Given the description of an element on the screen output the (x, y) to click on. 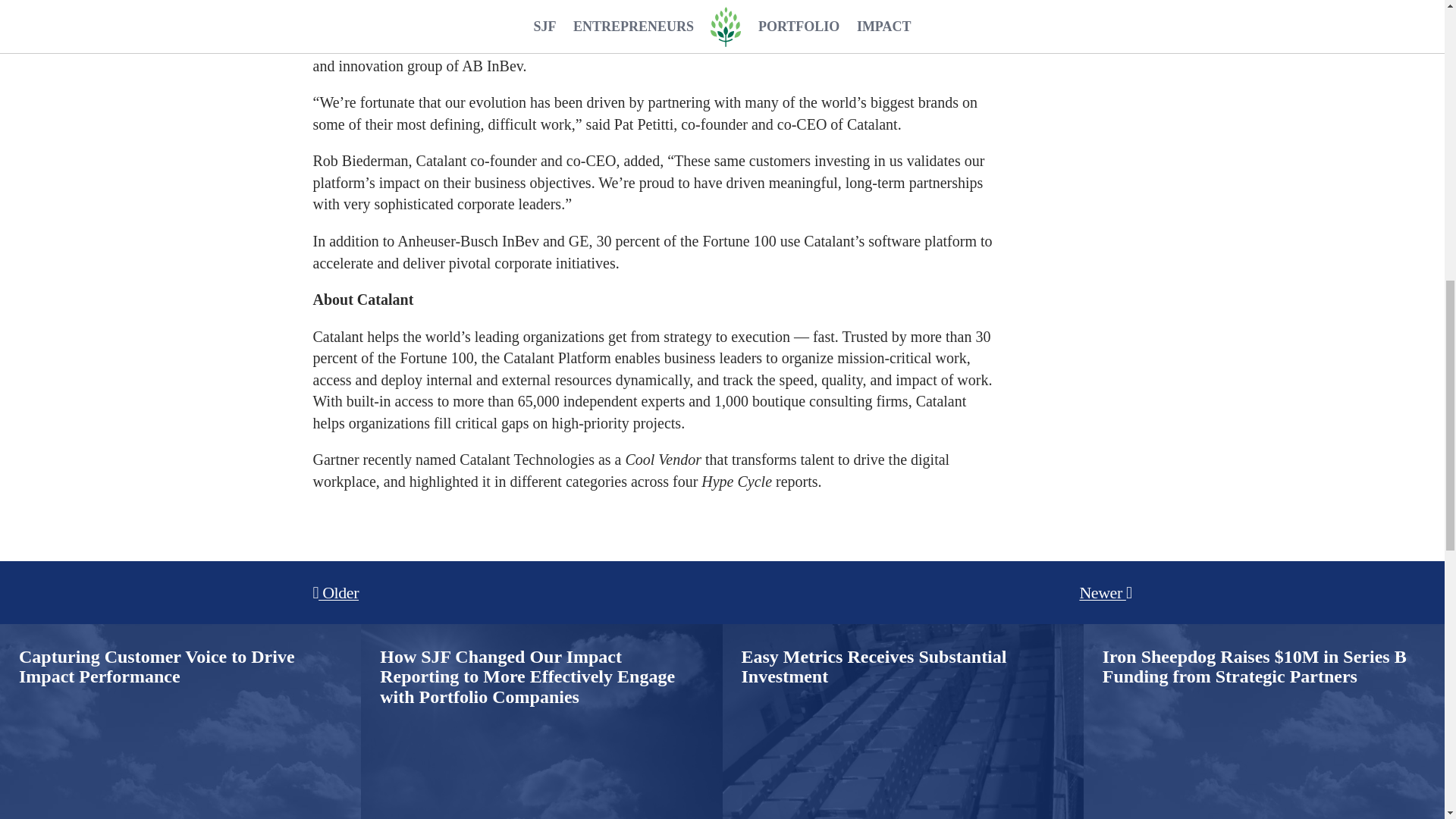
Easy Metrics Receives Substantial Investment (902, 629)
Capturing Customer Voice to Drive Impact Performance (180, 629)
